Given the description of an element on the screen output the (x, y) to click on. 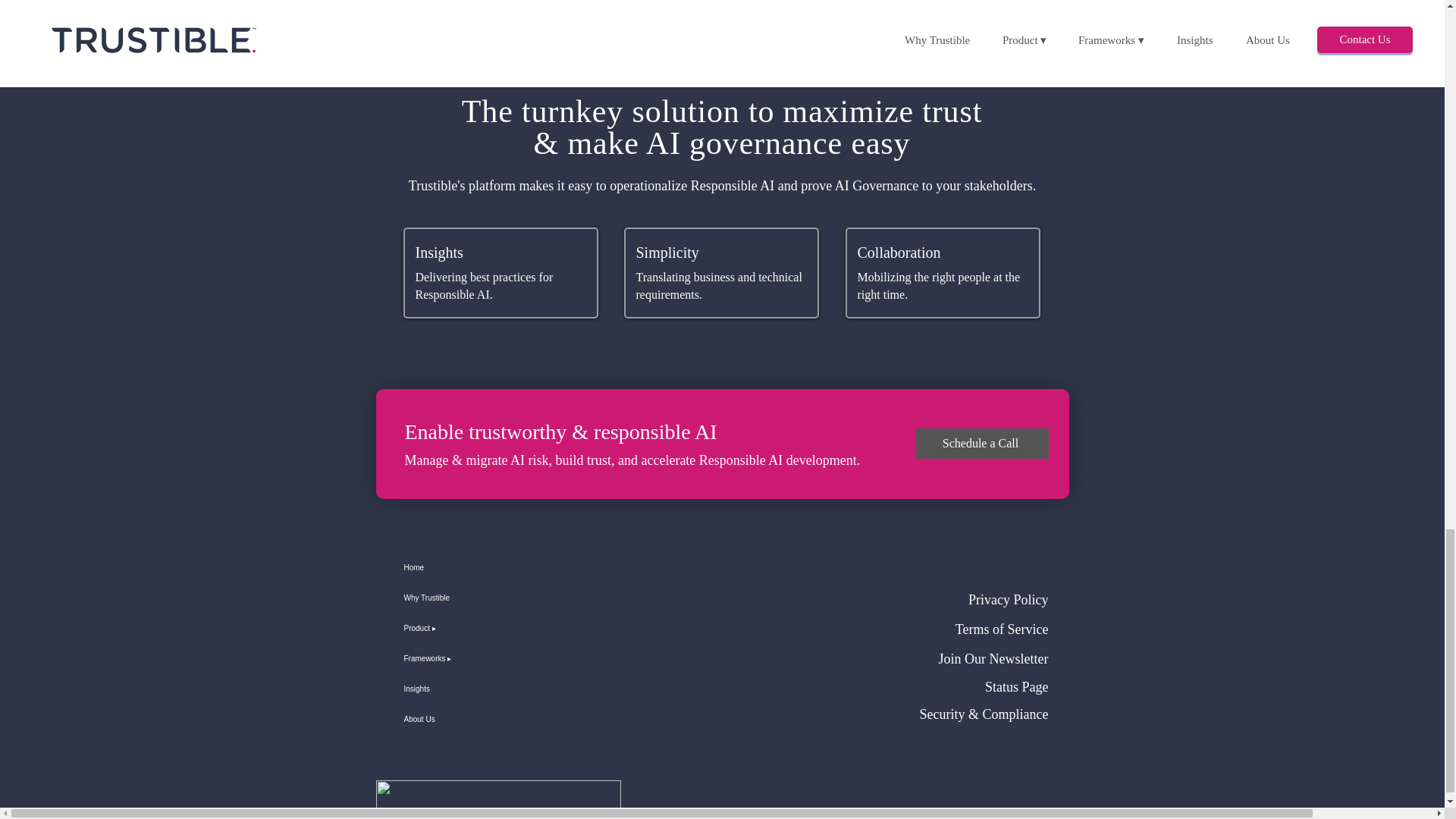
Schedule a Call (981, 443)
Why Trustible (457, 598)
Home (457, 567)
